Given the description of an element on the screen output the (x, y) to click on. 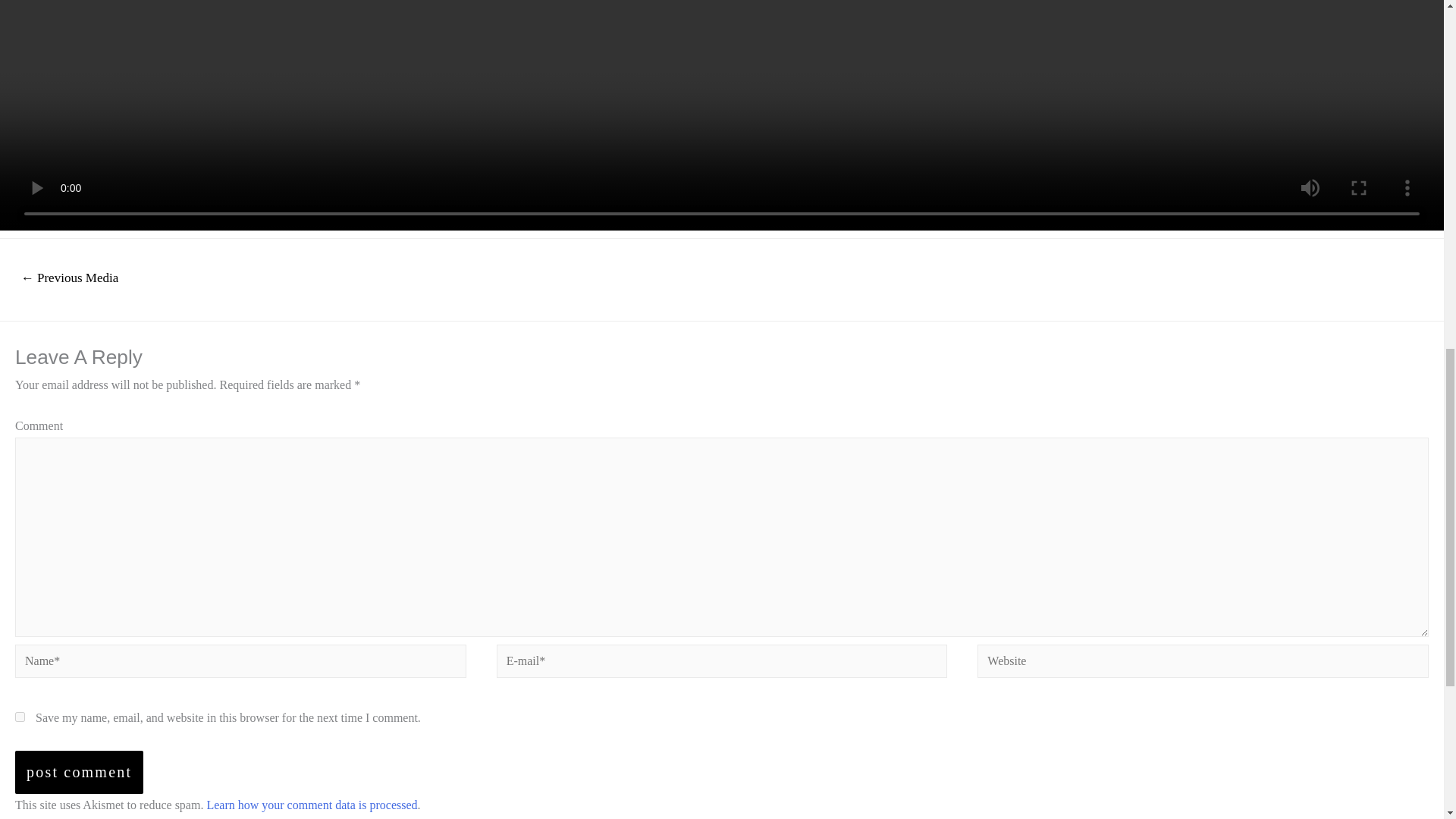
Post Comment (78, 772)
Post Comment (78, 772)
yes (19, 716)
